Given the description of an element on the screen output the (x, y) to click on. 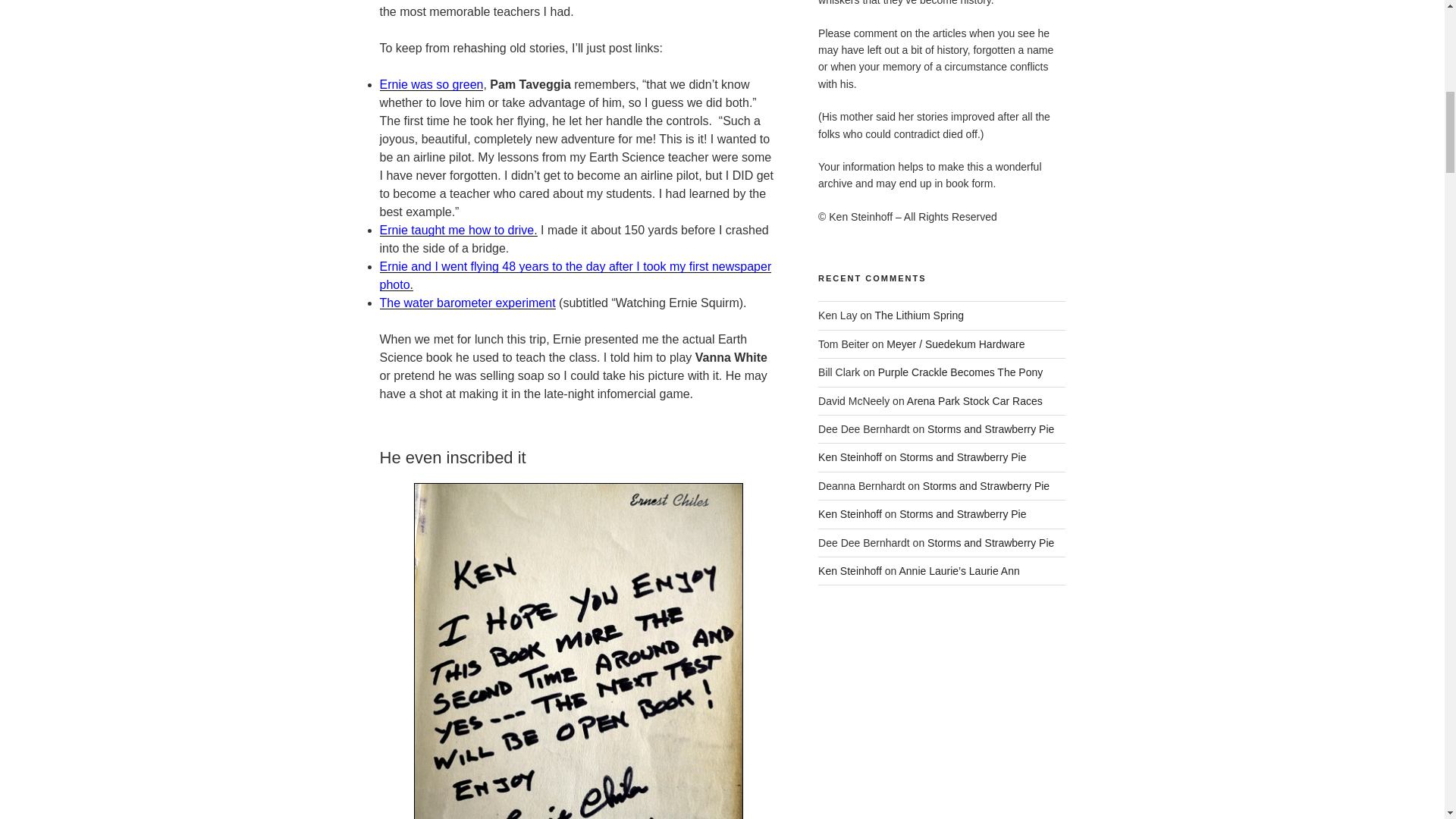
Ernie was so green (430, 83)
Ernie and the Rock of the Month Club (430, 83)
Ernie, driving instructor (457, 229)
Ernie taught me how to drive. (457, 229)
Building a water barometer (466, 302)
The Lithium Spring (919, 315)
Purple Crackle Becomes The Pony (960, 372)
The water barometer experiment (466, 302)
